Given the description of an element on the screen output the (x, y) to click on. 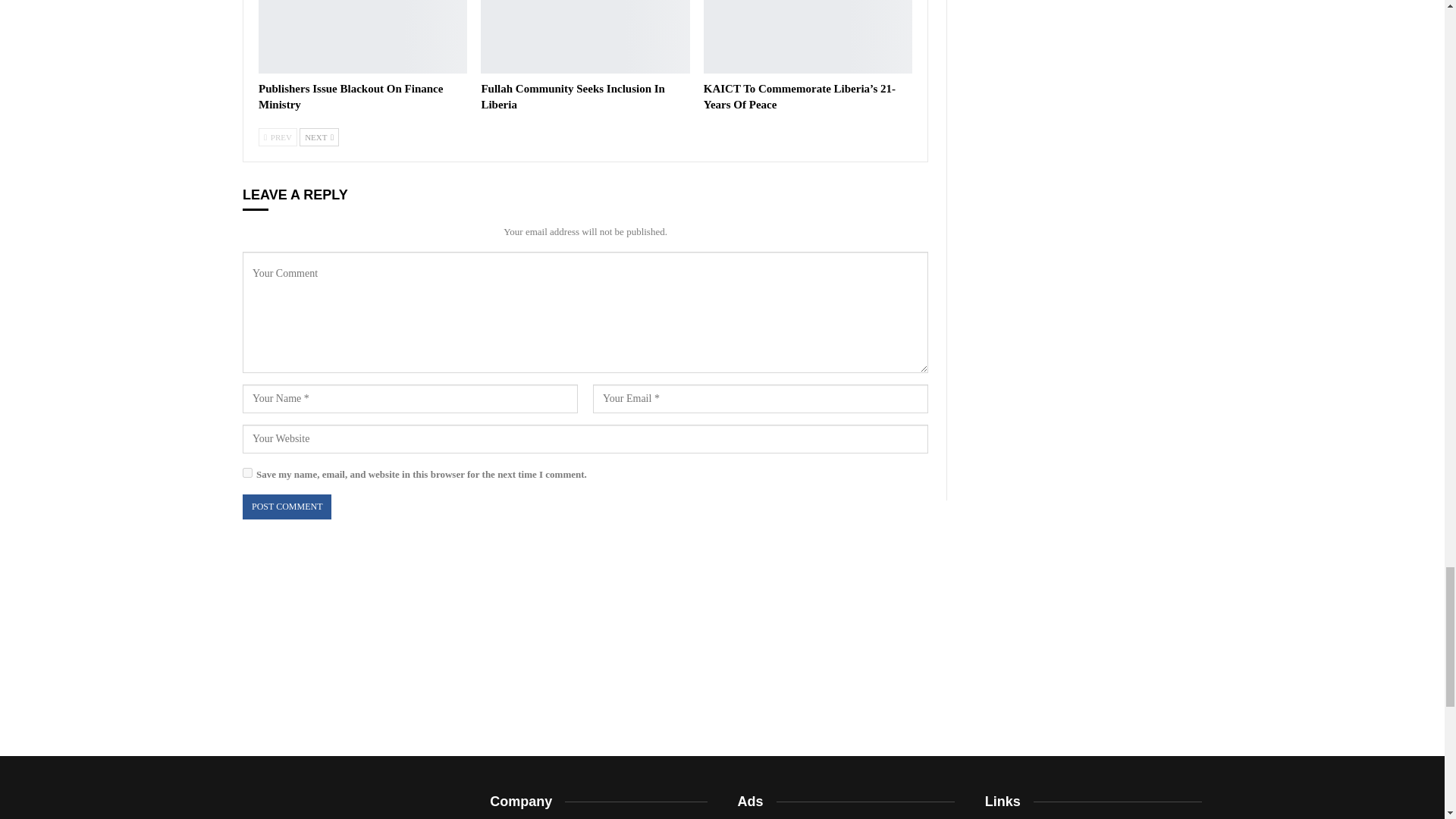
Post Comment (287, 506)
yes (247, 472)
Publishers Issue Blackout On Finance Ministry (363, 36)
